Given the description of an element on the screen output the (x, y) to click on. 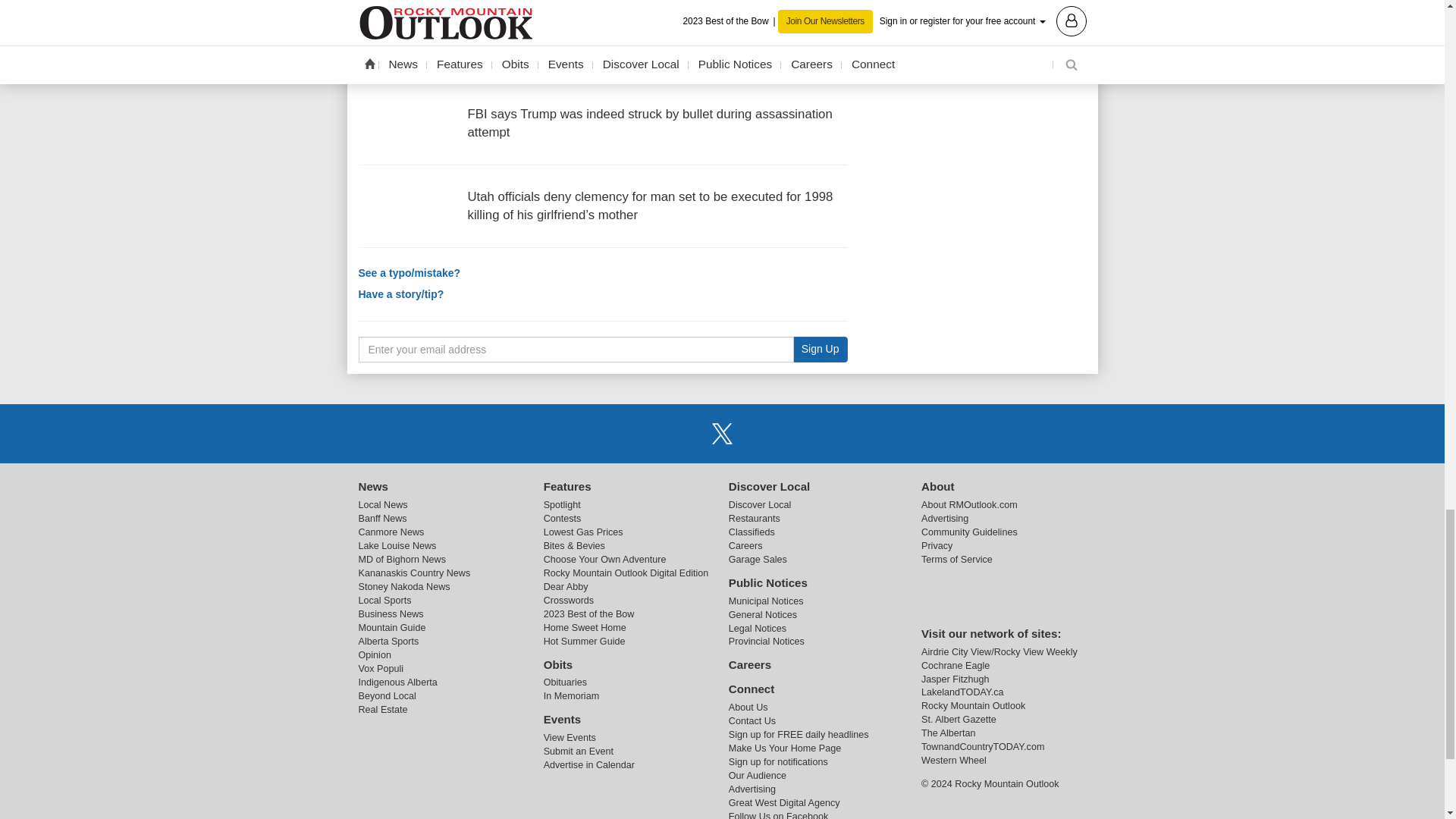
Facebook (683, 433)
X (721, 433)
Instagram (760, 433)
